Given the description of an element on the screen output the (x, y) to click on. 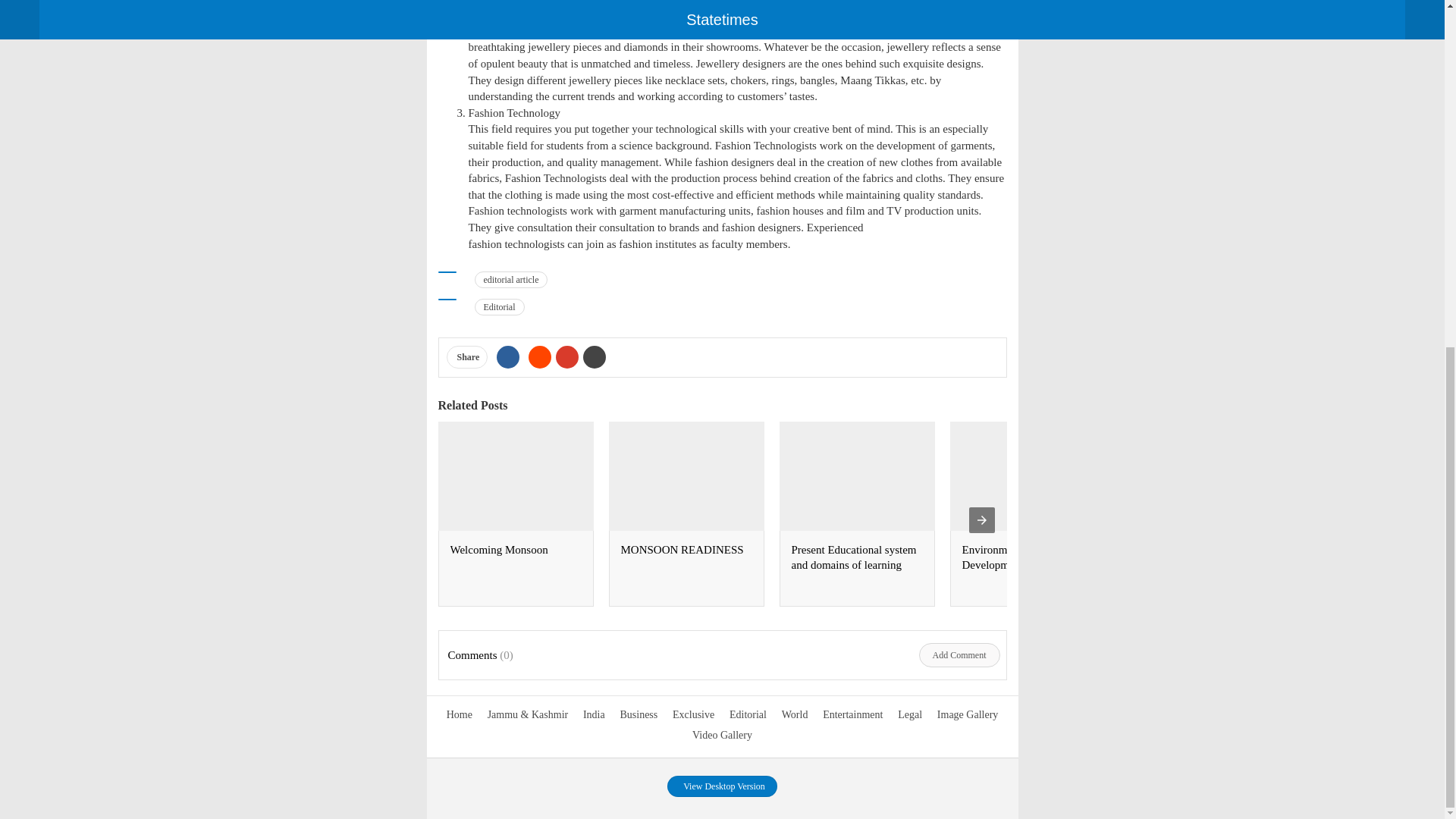
editorial article (511, 279)
India (594, 714)
Environment versus Development (1006, 556)
Present Educational system and domains of learning (854, 556)
Multi-stated Machail Yatra (1193, 549)
Editorial (499, 306)
Add Comment (959, 654)
Home (458, 714)
Welcoming Monsoon (498, 549)
MONSOON READINESS (681, 549)
